Given the description of an element on the screen output the (x, y) to click on. 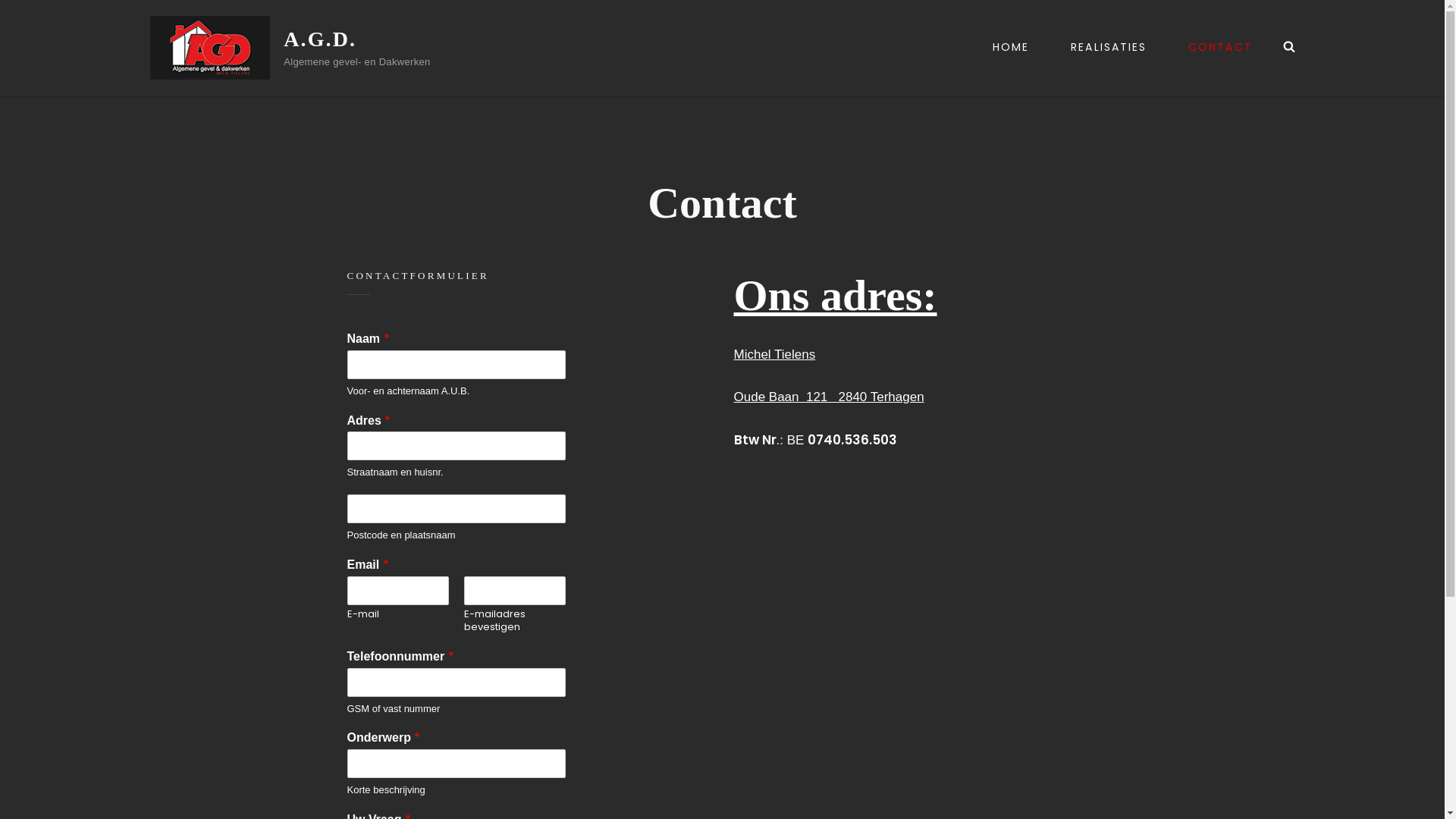
HOME Element type: text (1010, 47)
Search Element type: text (1288, 46)
CONTACT Element type: text (1220, 47)
REALISATIES Element type: text (1108, 47)
A.G.D. Element type: text (319, 38)
